Given the description of an element on the screen output the (x, y) to click on. 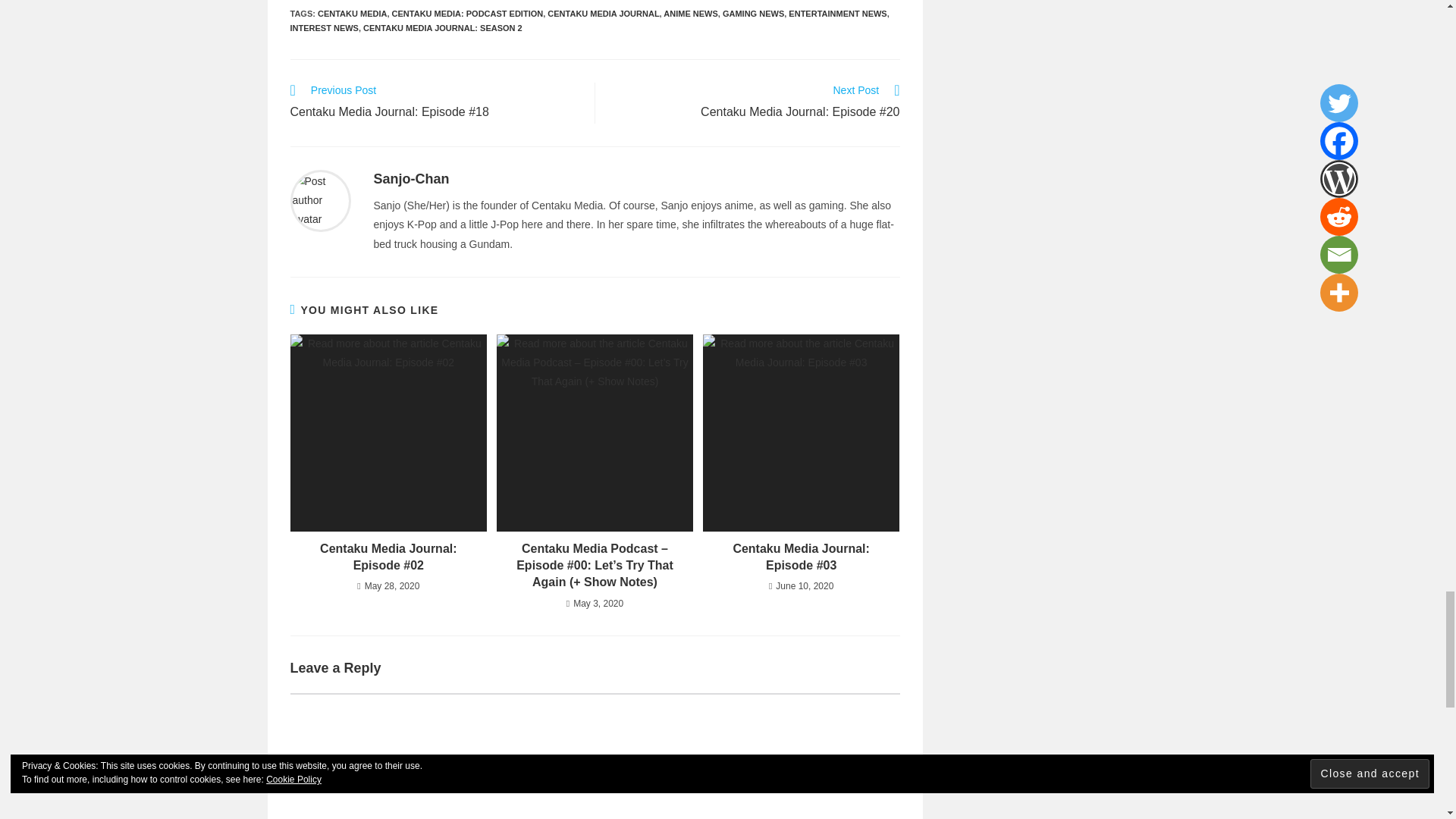
Visit author page (319, 199)
